Given the description of an element on the screen output the (x, y) to click on. 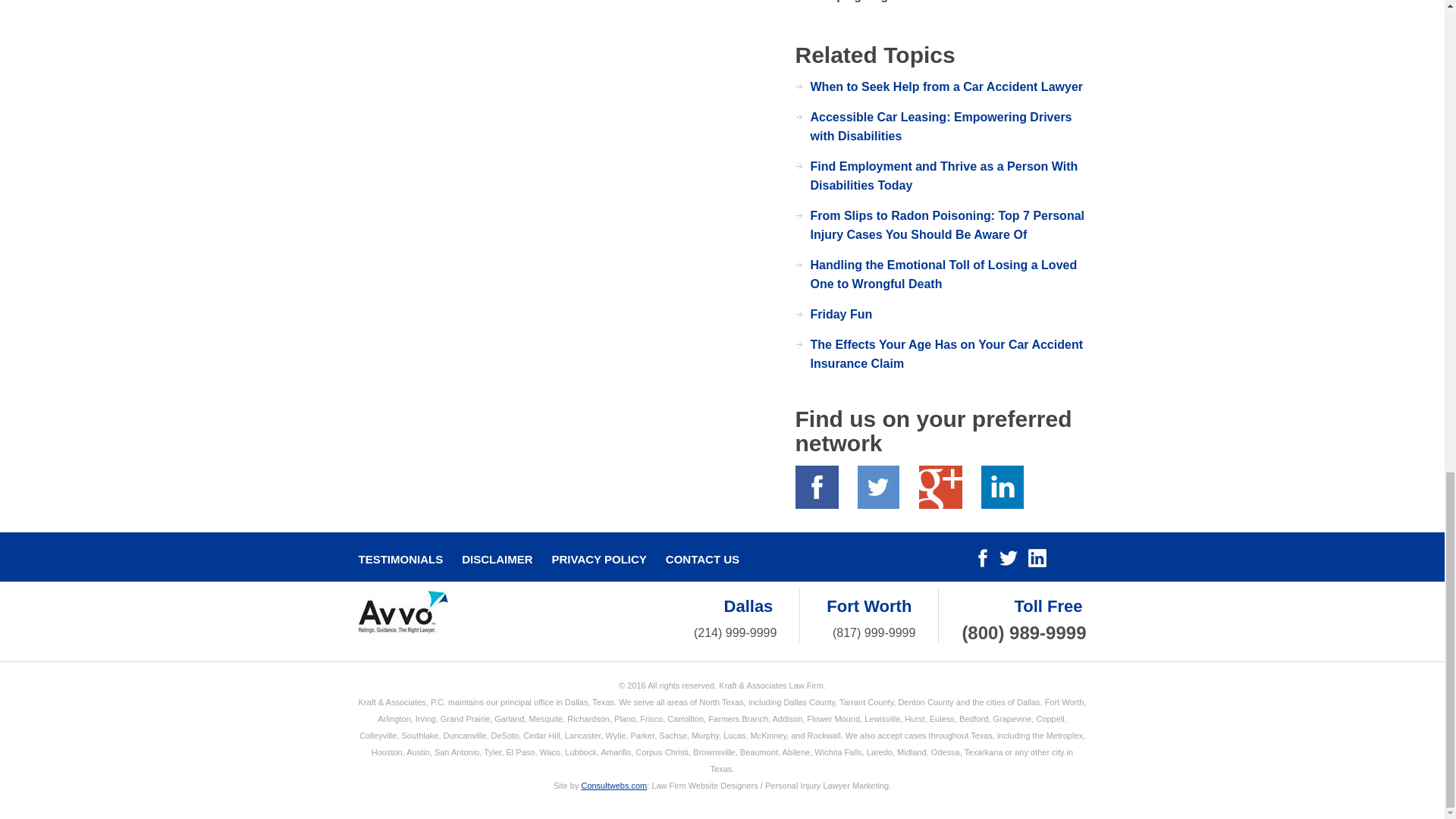
Accessible Car Leasing: Empowering Drivers with Disabilities (940, 126)
Facebook (816, 487)
When to Seek Help from a Car Accident Lawyer (946, 86)
Friday Fun (840, 314)
Twitter (878, 487)
